Given the description of an element on the screen output the (x, y) to click on. 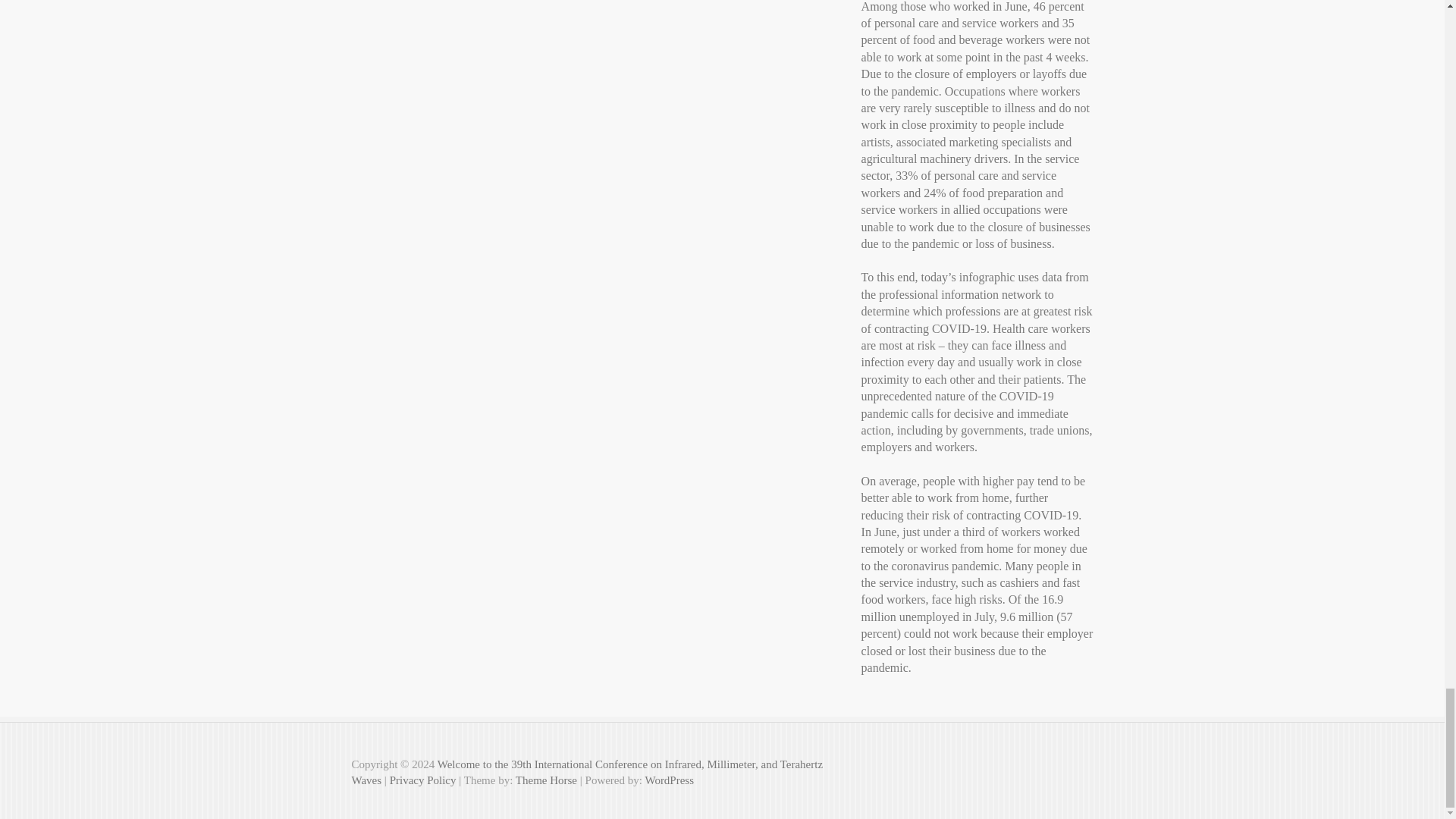
Theme Horse (545, 779)
WordPress (669, 779)
